Given the description of an element on the screen output the (x, y) to click on. 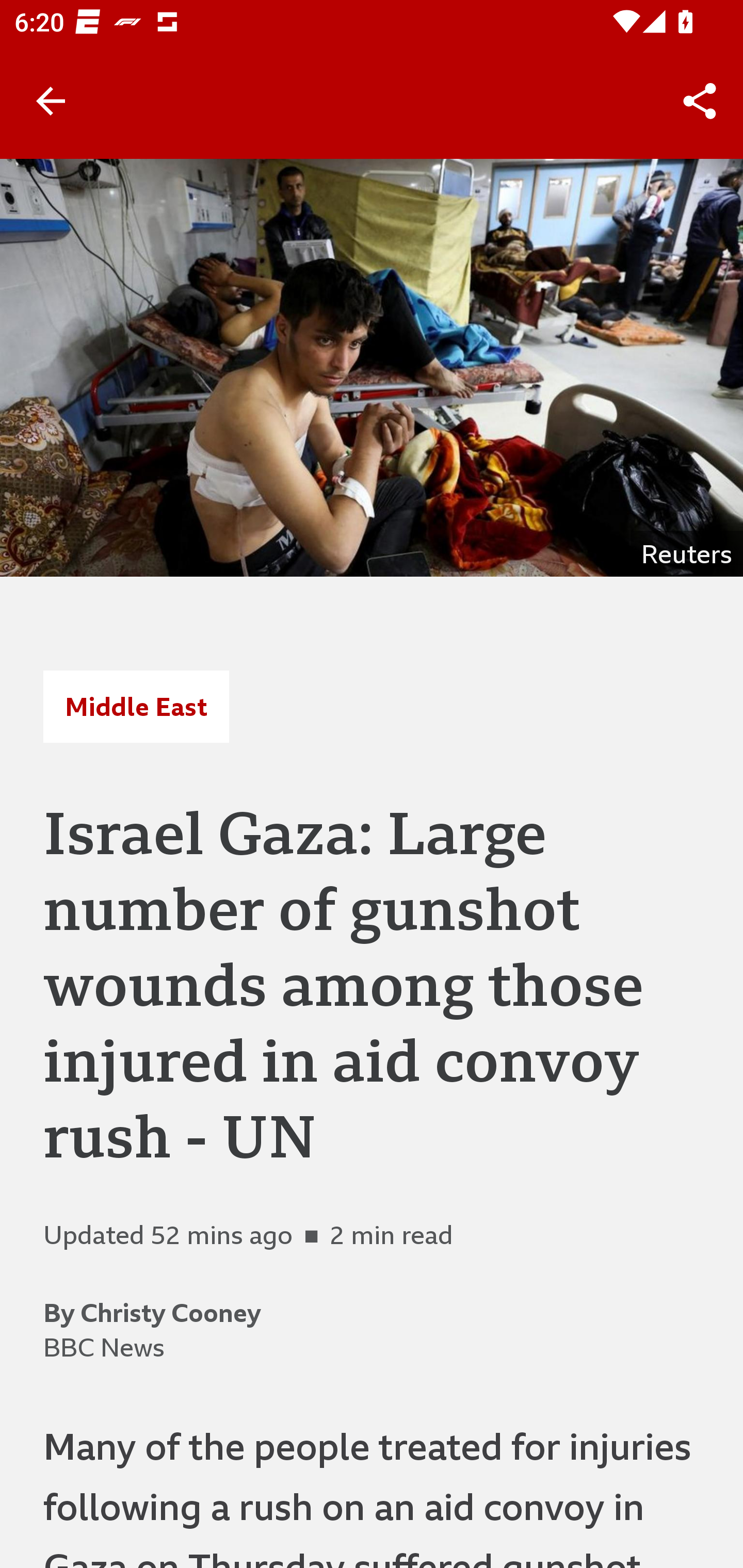
Back (50, 101)
Share (699, 101)
Middle East (135, 706)
